Given the description of an element on the screen output the (x, y) to click on. 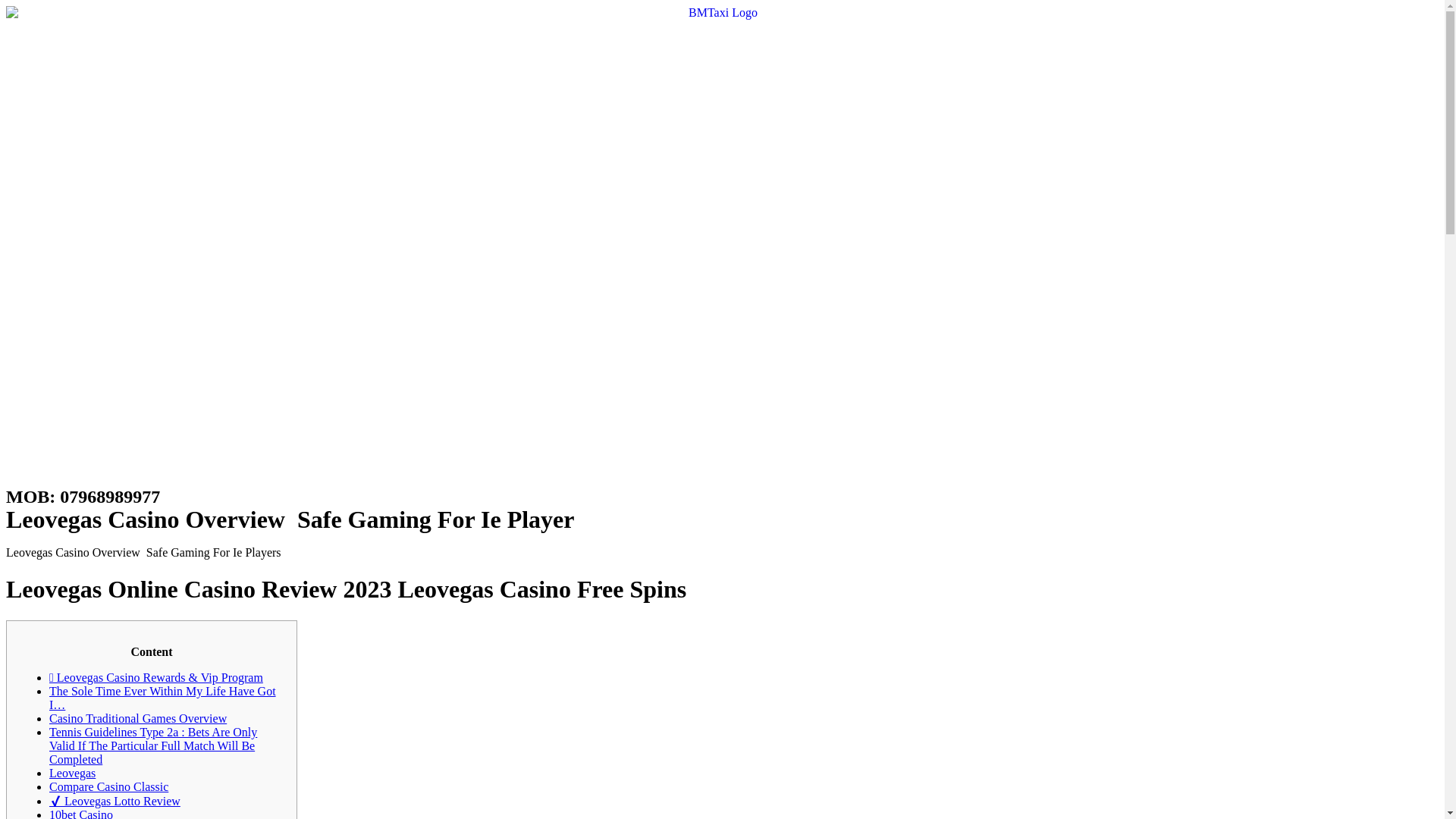
Leovegas (72, 772)
Compare Casino Classic (108, 786)
10bet Casino (81, 813)
Casino Traditional Games Overview (138, 717)
